Given the description of an element on the screen output the (x, y) to click on. 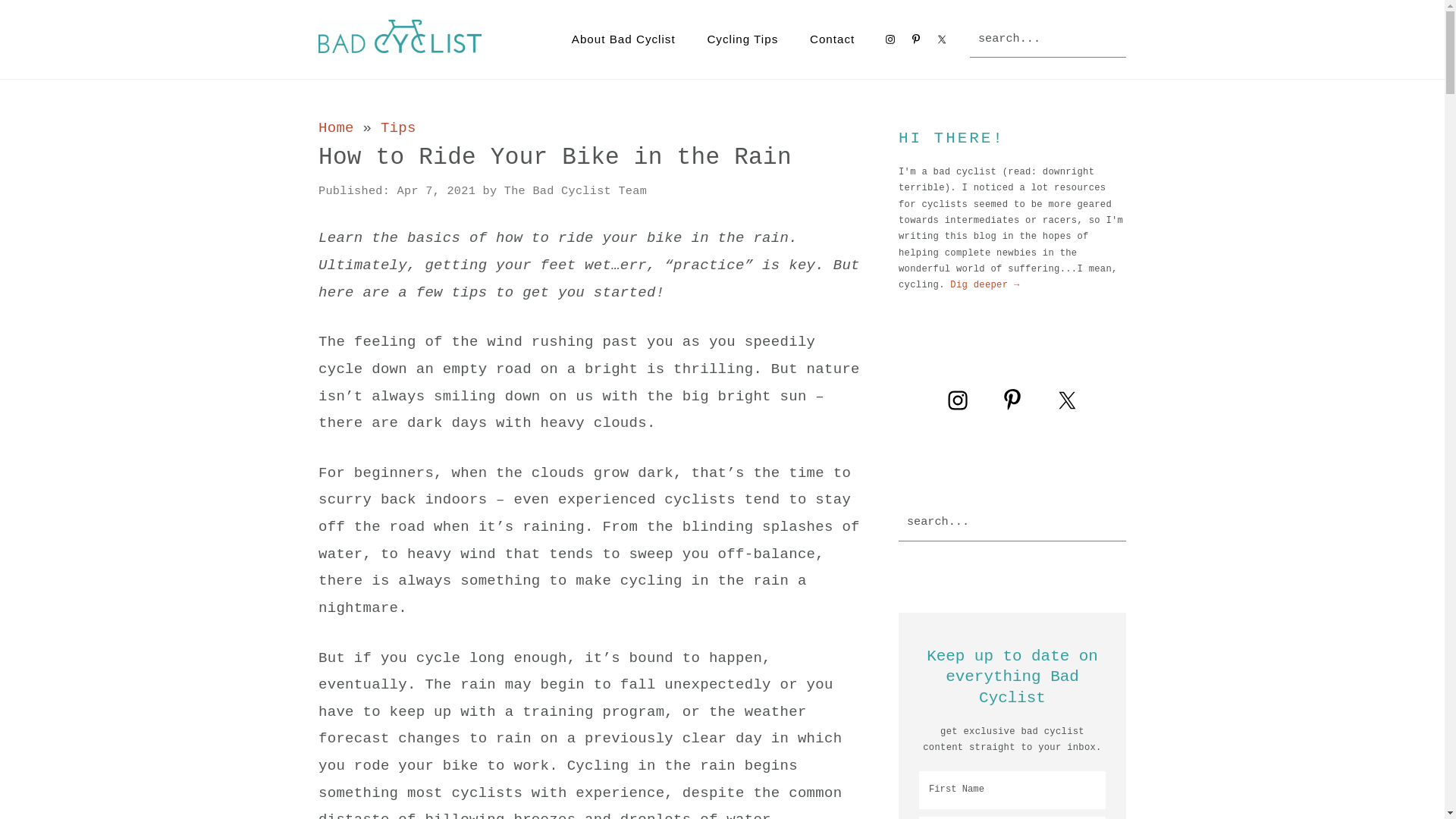
Skip to primary navigation Element type: text (0, 0)
Contact Element type: text (832, 38)
Search Element type: text (1125, 20)
Cycling Tips Element type: text (742, 38)
Bad Cyclist Element type: hover (399, 44)
Search Element type: text (1125, 521)
Bad Cyclist Element type: hover (399, 36)
Home Element type: text (336, 127)
Tips Element type: text (398, 127)
About Bad Cyclist Element type: text (623, 38)
